Given the description of an element on the screen output the (x, y) to click on. 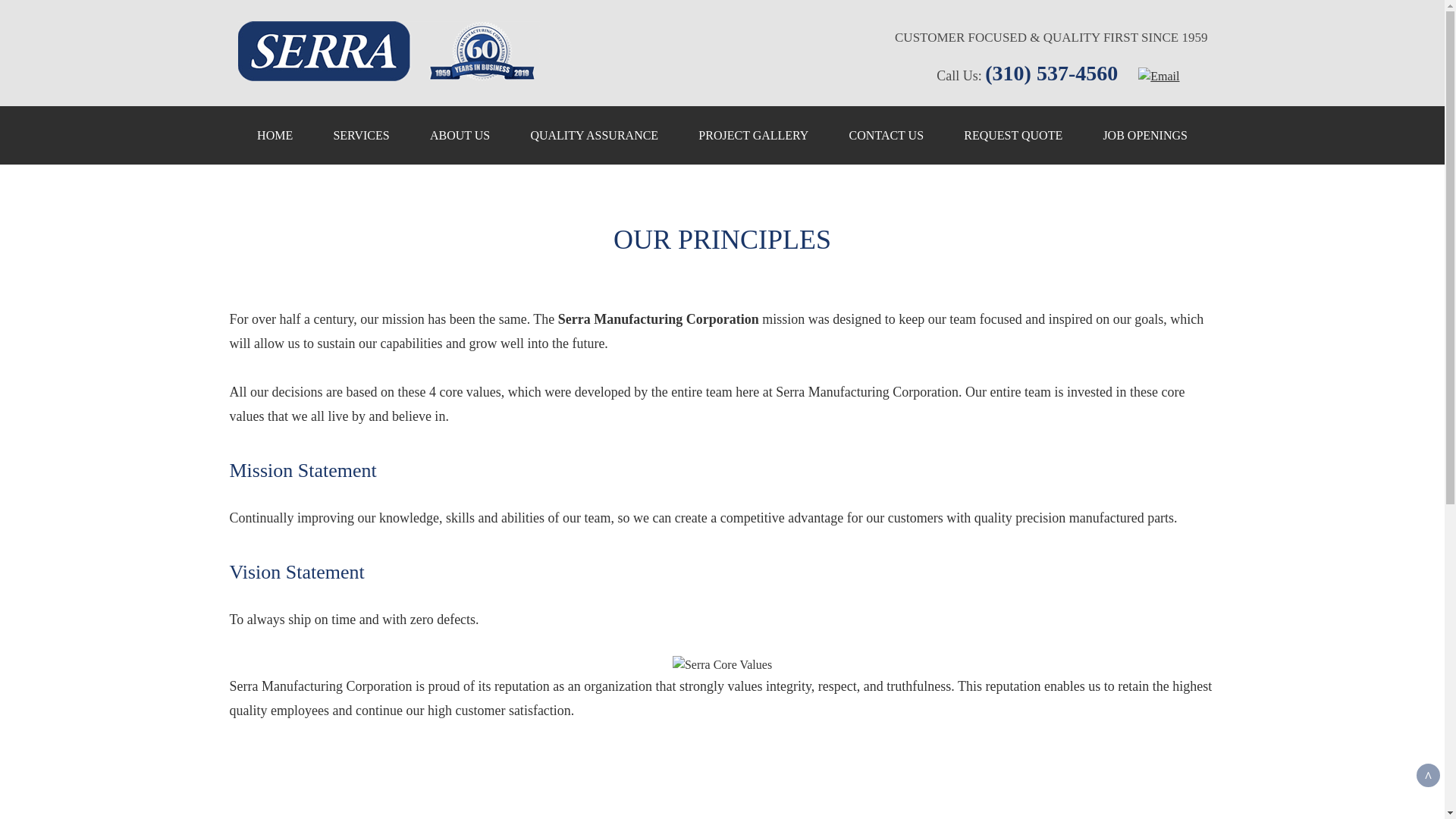
PDF (342, 785)
PROJECT GALLERY (753, 135)
Serra Manufacturing Corporation (387, 50)
HOME (274, 135)
SERVICES (360, 135)
CONTACT US (885, 135)
QUALITY ASSURANCE (594, 135)
Email (1150, 76)
ABOUT US (459, 135)
JOB OPENINGS (1145, 135)
